Given the description of an element on the screen output the (x, y) to click on. 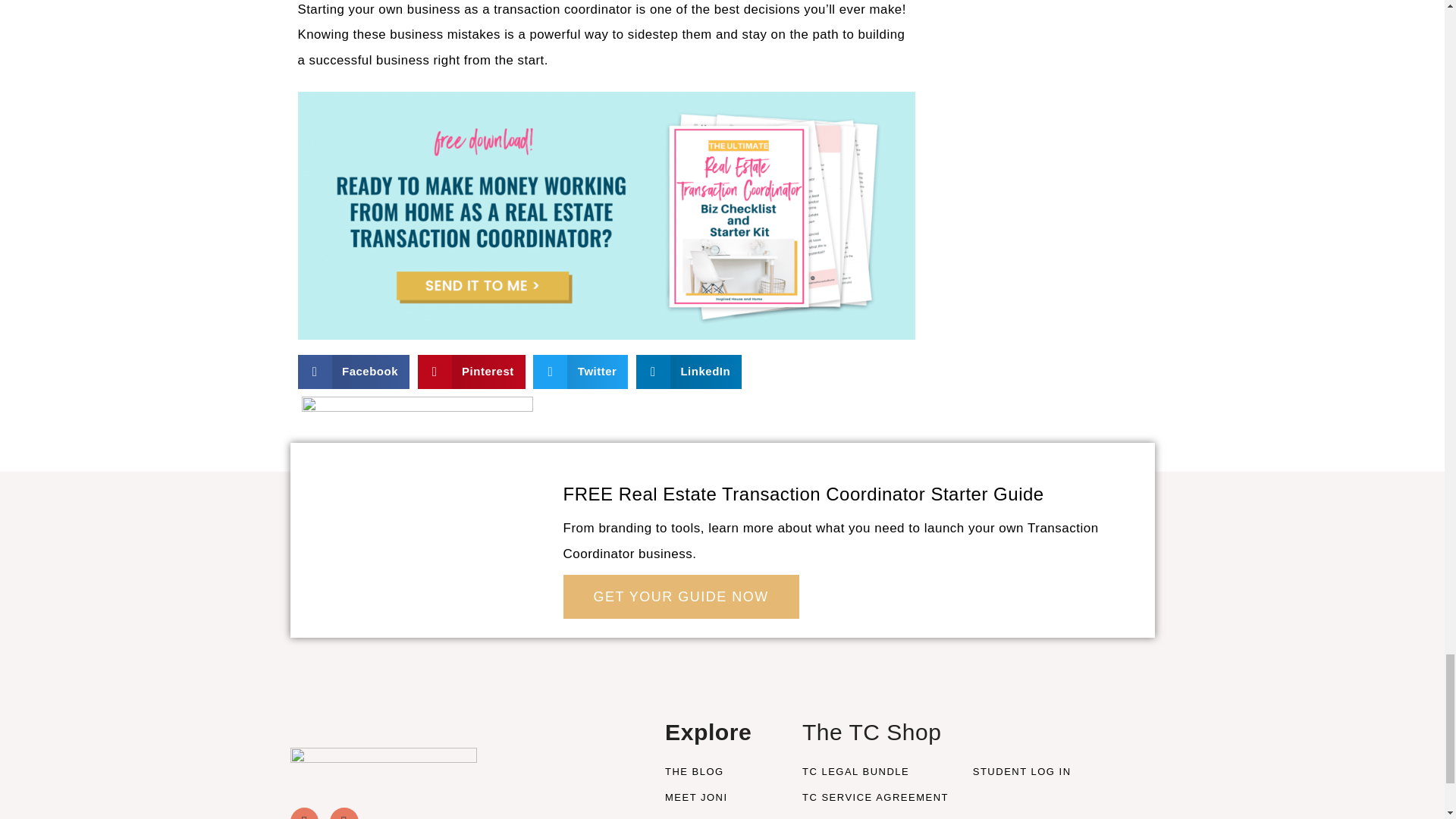
THE BLOG (721, 771)
GET YOUR GUIDE NOW (679, 596)
